Given the description of an element on the screen output the (x, y) to click on. 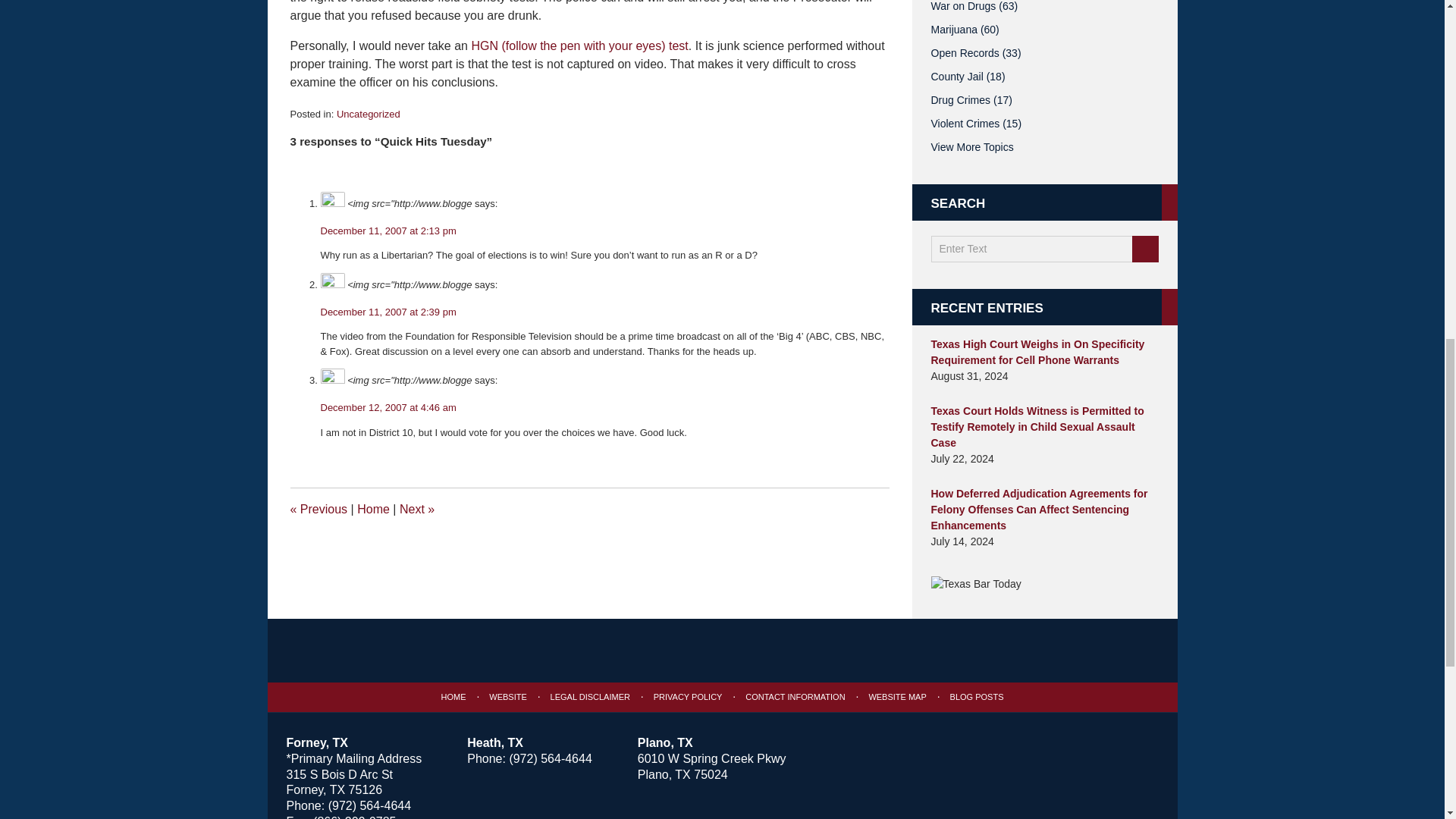
December 11, 2007 at 2:39 pm (387, 311)
View all posts in Uncategorized (368, 113)
ONDCP- The Path of Least Disclosure-Part 2 (415, 508)
December 11, 2007 at 2:13 pm (387, 230)
Home (373, 508)
Prohibition is Dead, Long Live Prohibition (318, 508)
December 12, 2007 at 4:46 am (387, 407)
Uncategorized (368, 113)
